Given the description of an element on the screen output the (x, y) to click on. 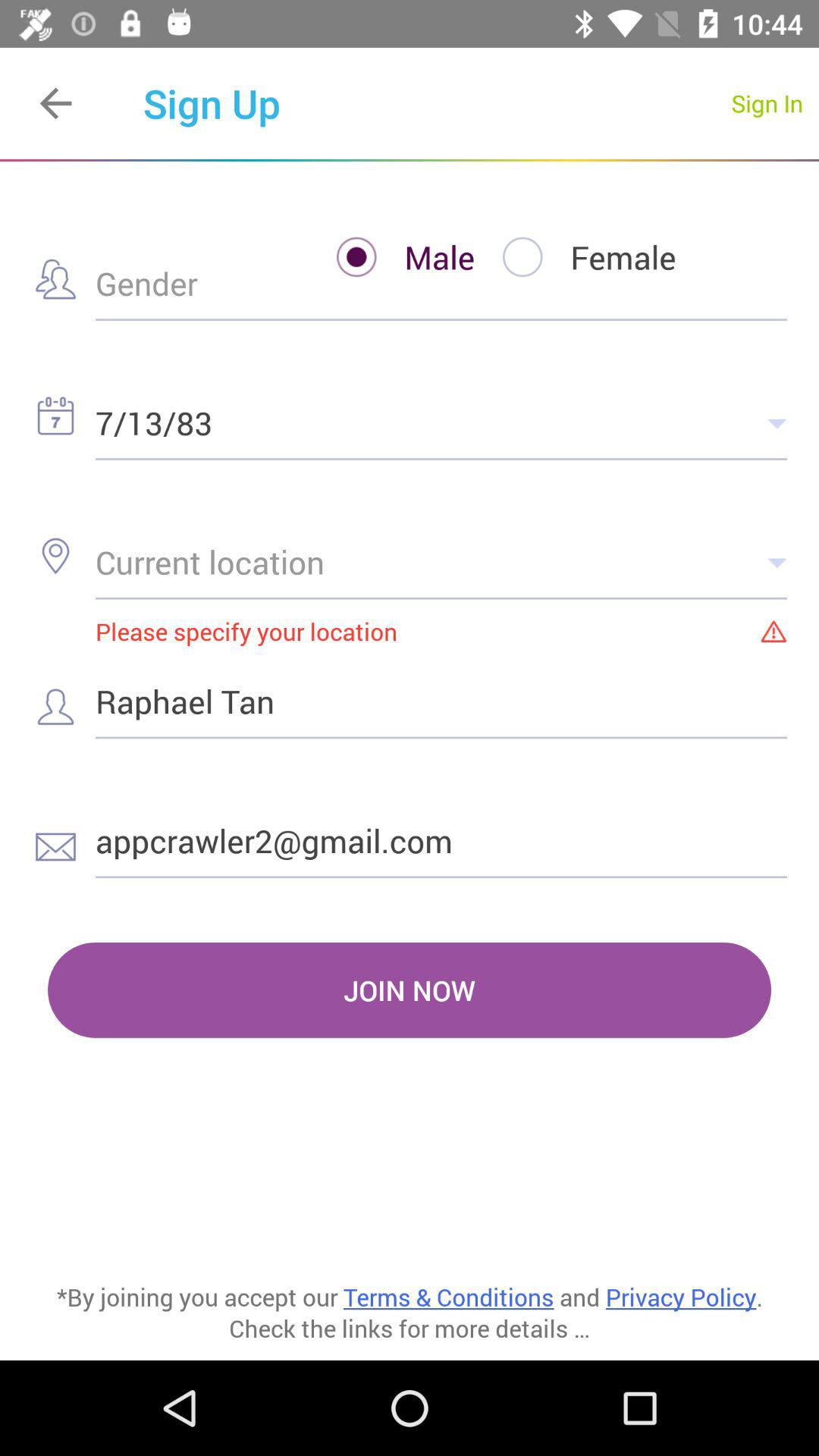
select the raphael tan icon (441, 700)
